Given the description of an element on the screen output the (x, y) to click on. 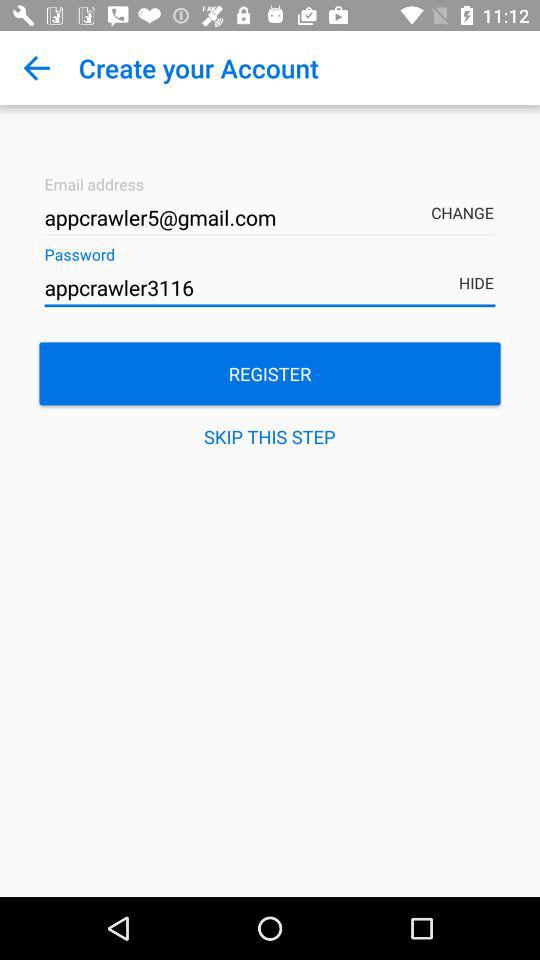
swipe to register (269, 373)
